Given the description of an element on the screen output the (x, y) to click on. 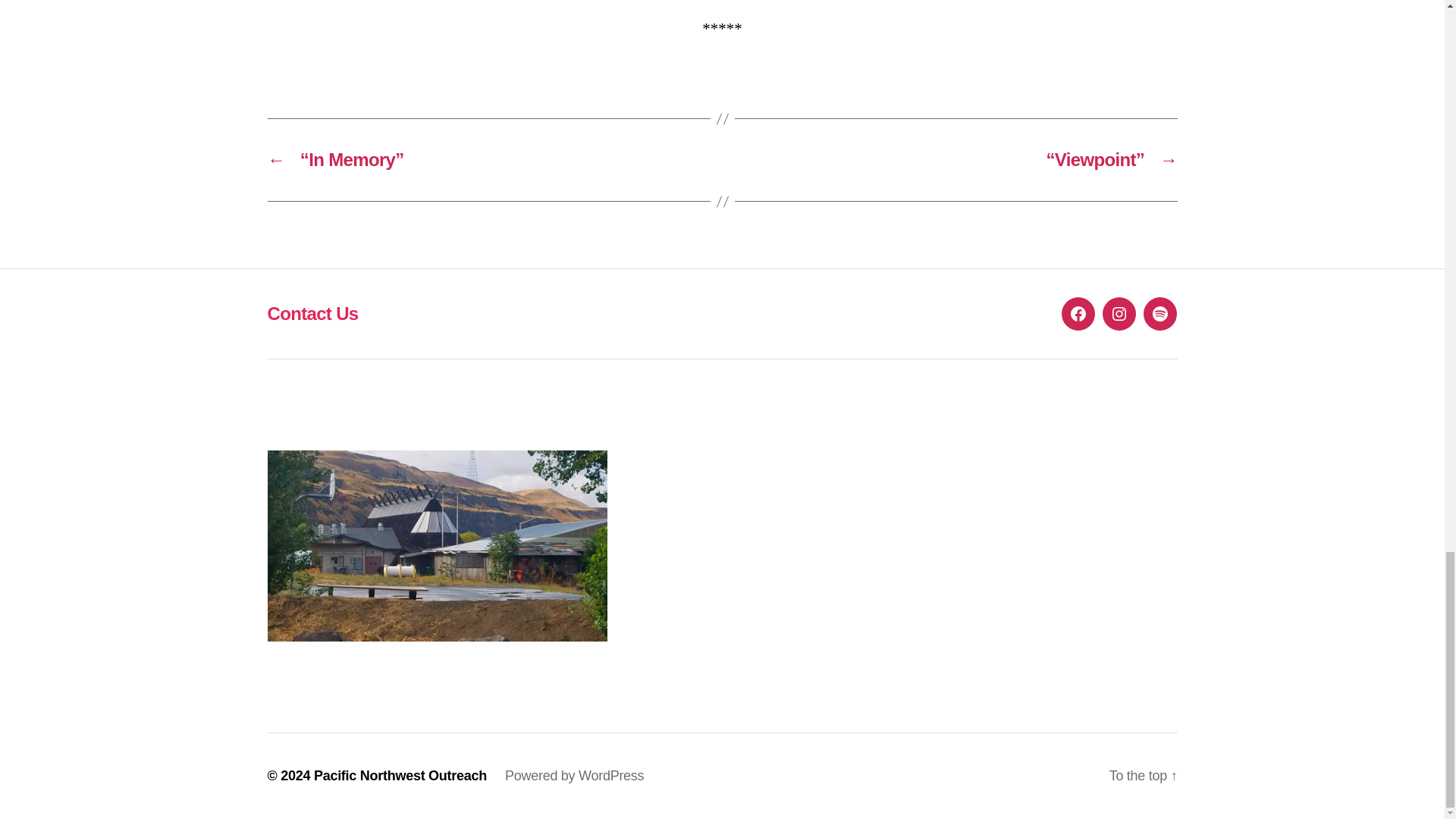
spotify (1159, 313)
Pacific Northwest Outreach (400, 775)
Facebook (1077, 313)
Powered by WordPress (574, 775)
Contact Us (312, 313)
Instagram (1118, 313)
